Given the description of an element on the screen output the (x, y) to click on. 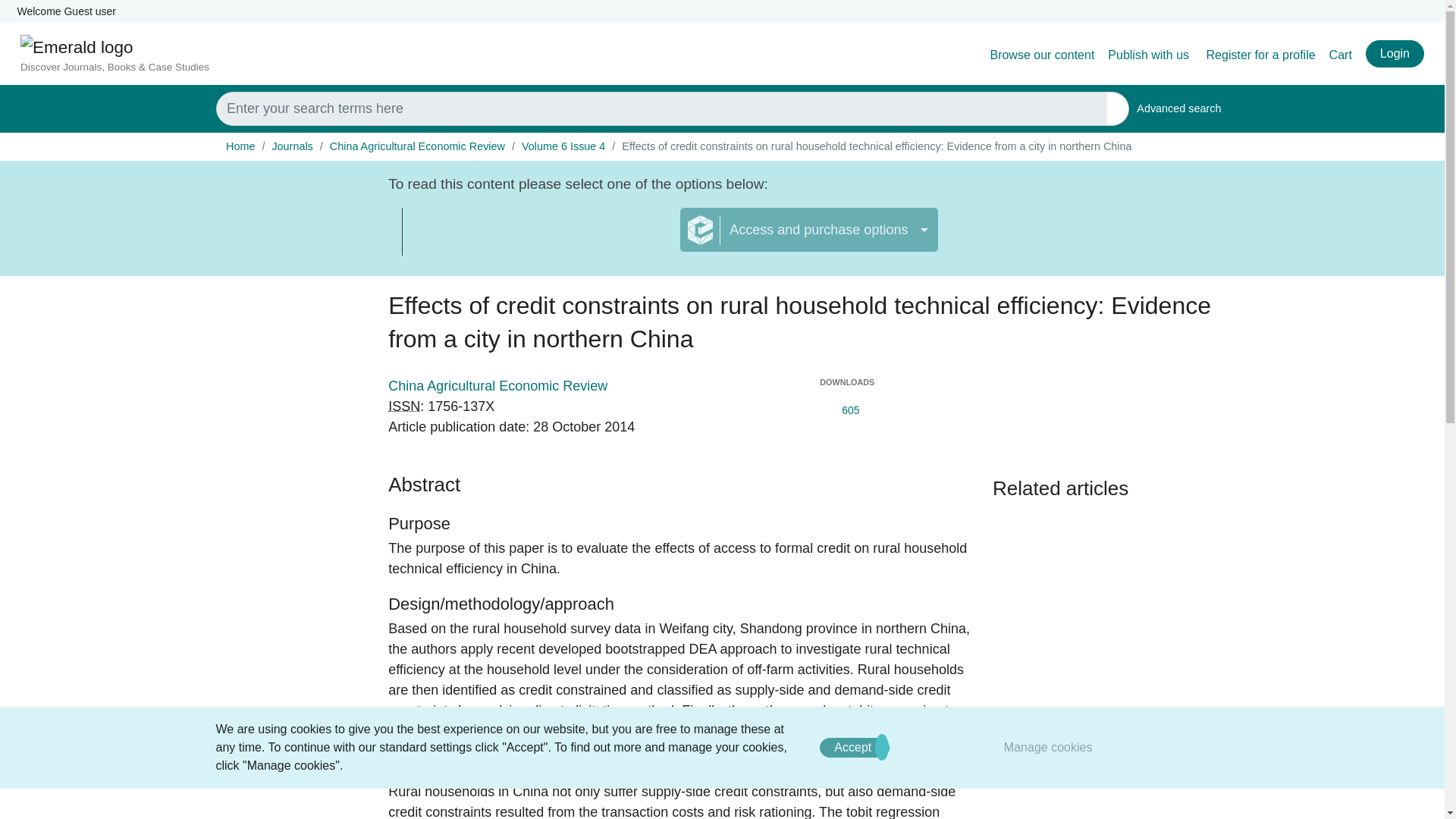
Login (1394, 53)
Cart (1340, 54)
International Standard Serial Number. (404, 406)
China Agricultural Economic Review (417, 146)
Accept (1178, 109)
Manage cookies (853, 747)
Register for a profile (1047, 747)
Home (1261, 54)
Access through your institution (239, 146)
Browse our content (541, 239)
Publish with us (1042, 54)
Volume 6 Issue 4 (1150, 54)
Journals (563, 146)
